Given the description of an element on the screen output the (x, y) to click on. 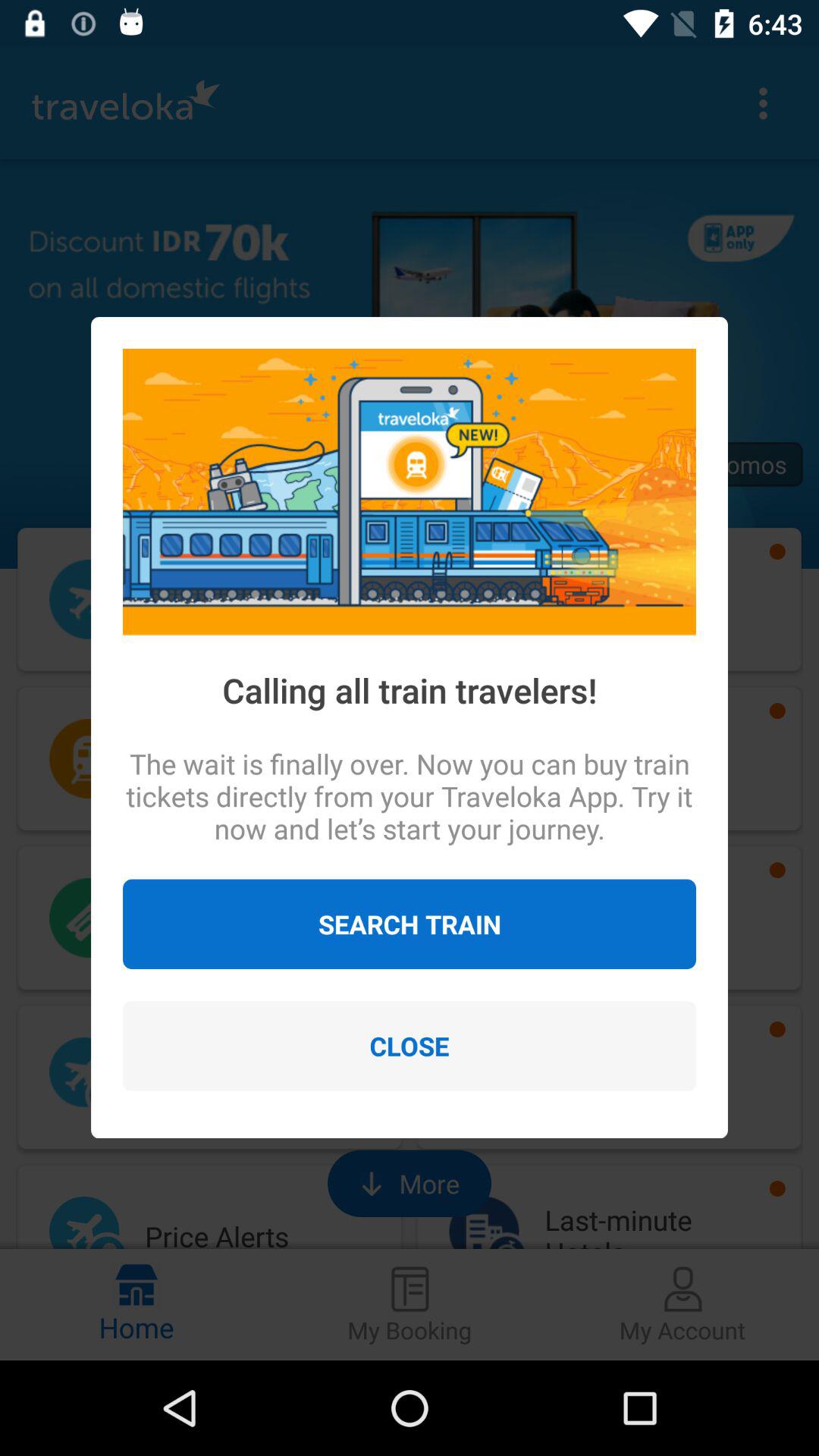
jump to search train (409, 924)
